Given the description of an element on the screen output the (x, y) to click on. 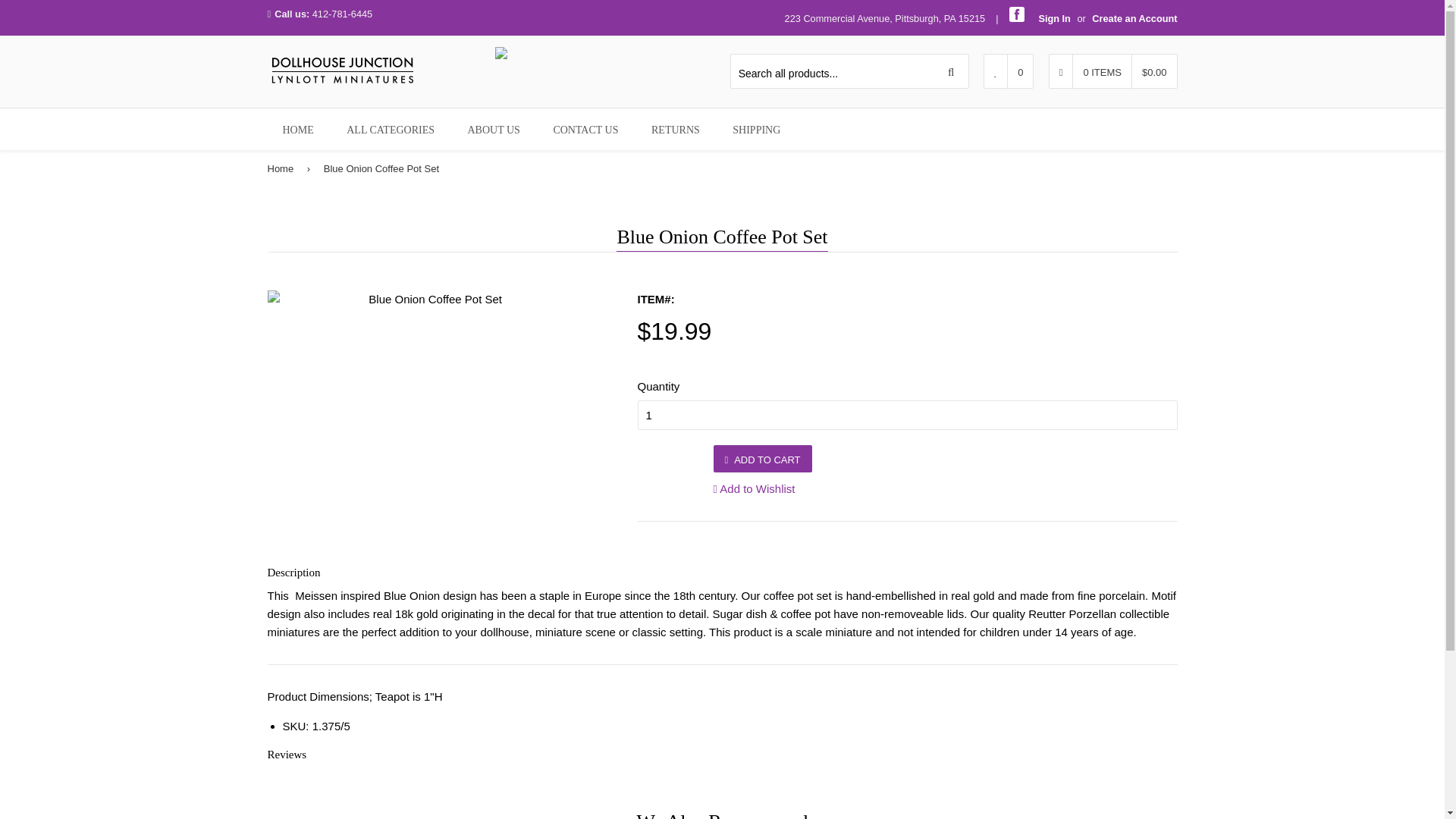
CONTACT US (585, 128)
ADD TO CART (761, 458)
ABOUT US (492, 128)
Sign In (1054, 18)
ALL CATEGORIES (390, 128)
0 (1008, 71)
1 (906, 414)
Back to the frontpage (282, 169)
Create an Account (1134, 18)
RETURNS (675, 128)
